Given the description of an element on the screen output the (x, y) to click on. 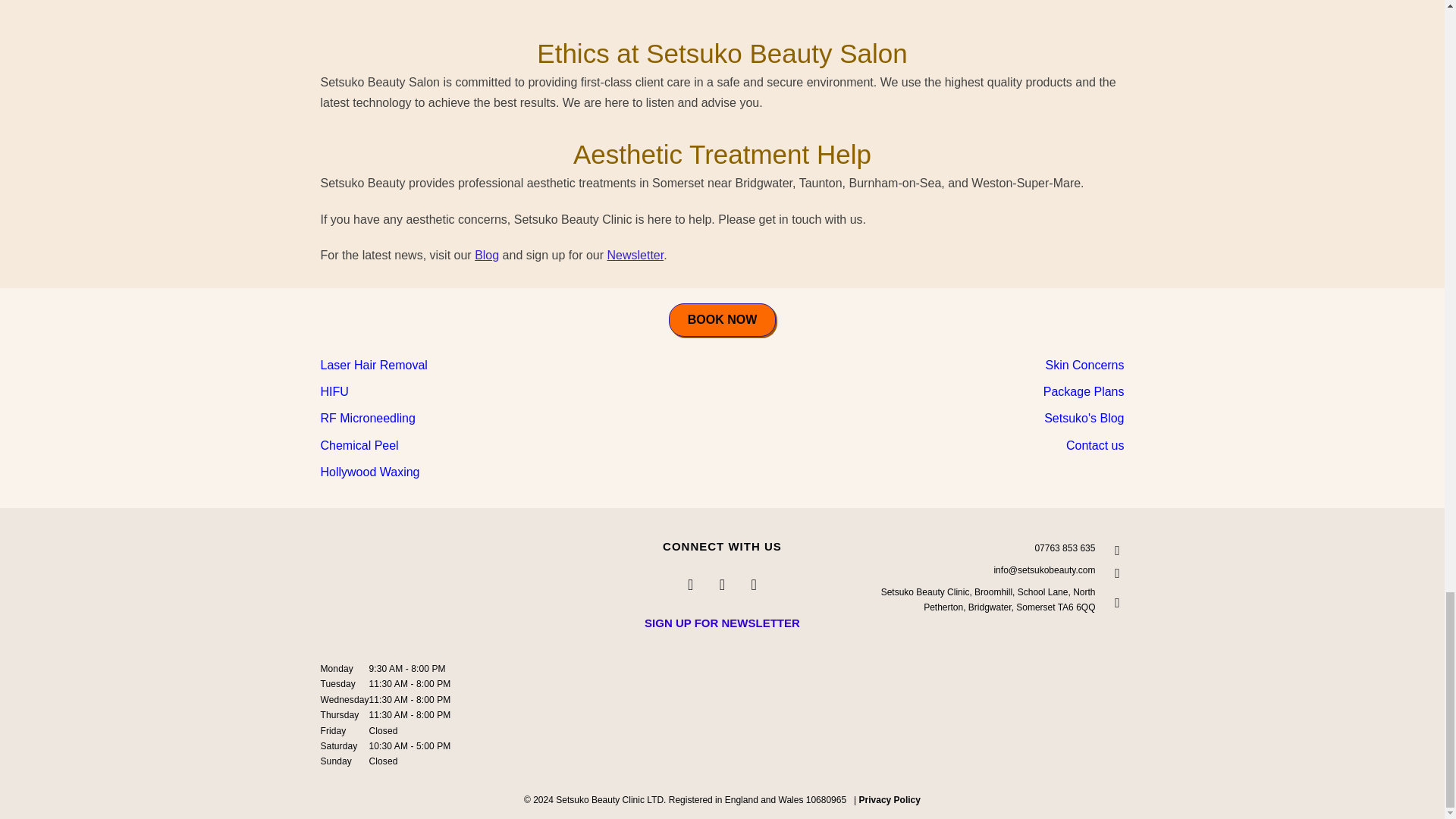
Setsuko-Beauty-Logo-Medium (433, 573)
Sign up for Newsletter (722, 622)
NOON Aesthetics Logo (723, 649)
MasCed (723, 724)
Lynton Lasers Logo (1067, 724)
